Given the description of an element on the screen output the (x, y) to click on. 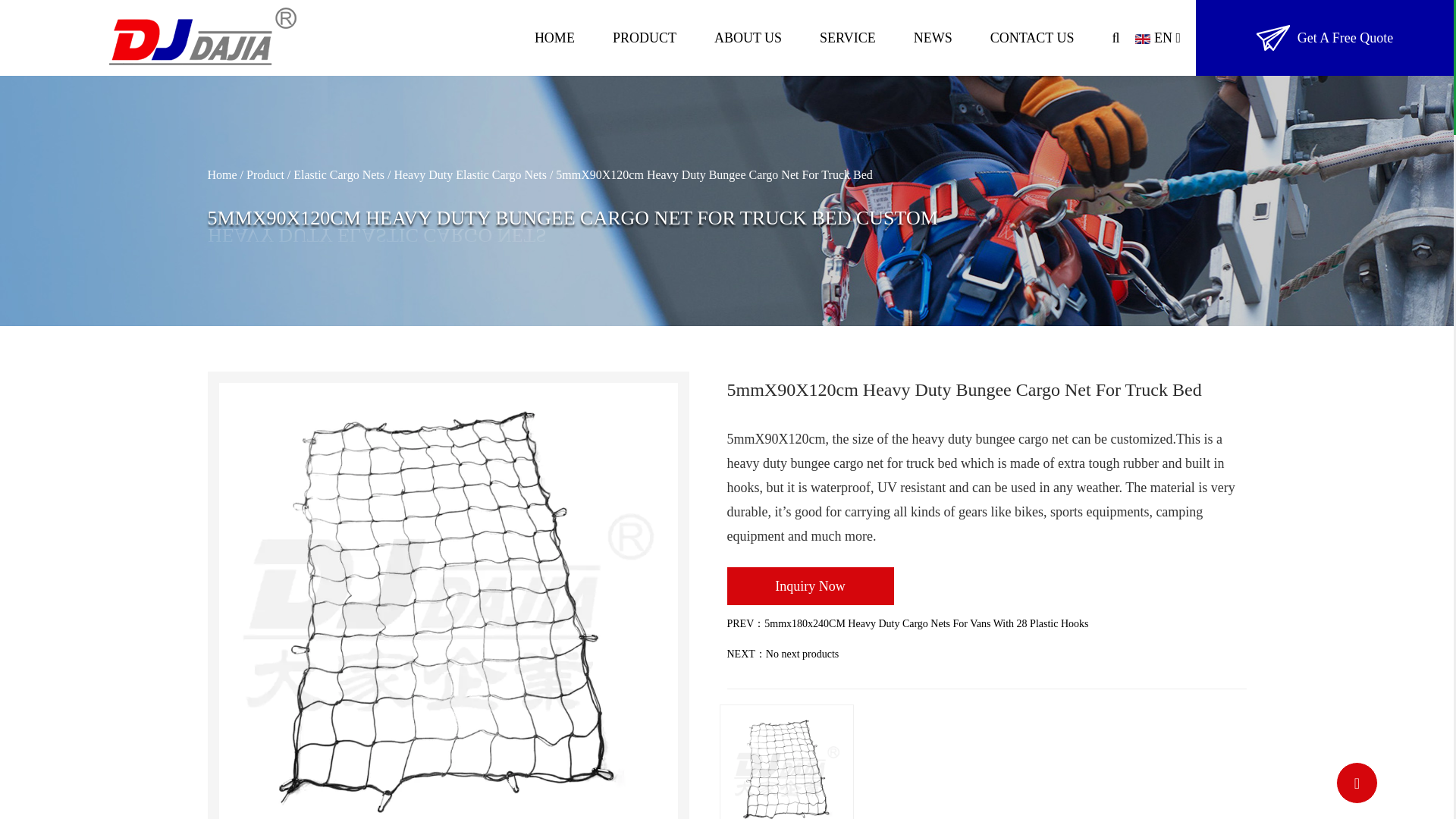
CONTACT US (1032, 37)
ABOUT US (747, 37)
